Given the description of an element on the screen output the (x, y) to click on. 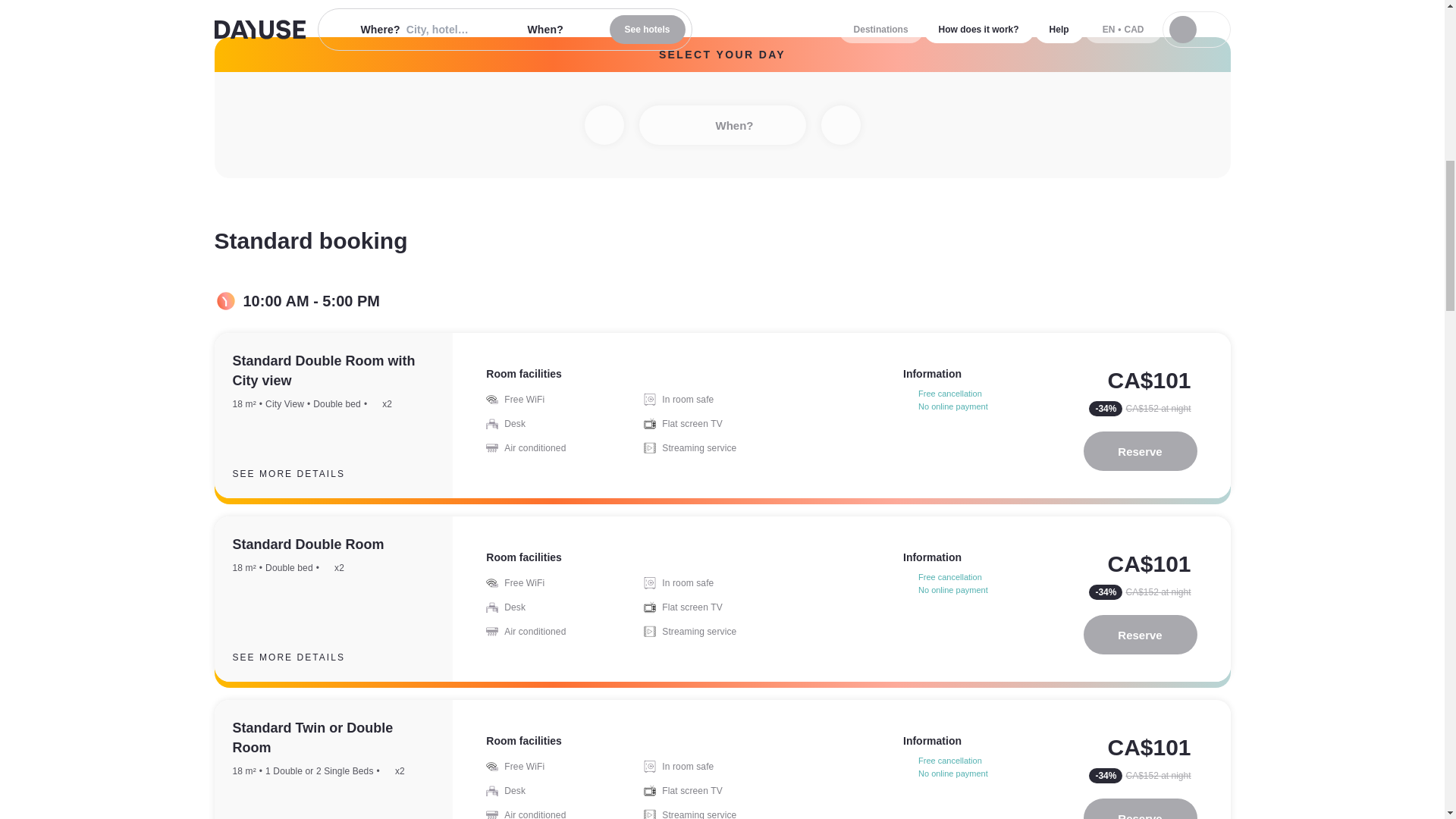
Reserve (1139, 450)
SEE MORE DETAILS (300, 657)
Reserve (1139, 634)
SEE MORE DETAILS (300, 474)
When? (722, 124)
Reserve (1139, 808)
Next day (840, 124)
Previous day (603, 124)
